Given the description of an element on the screen output the (x, y) to click on. 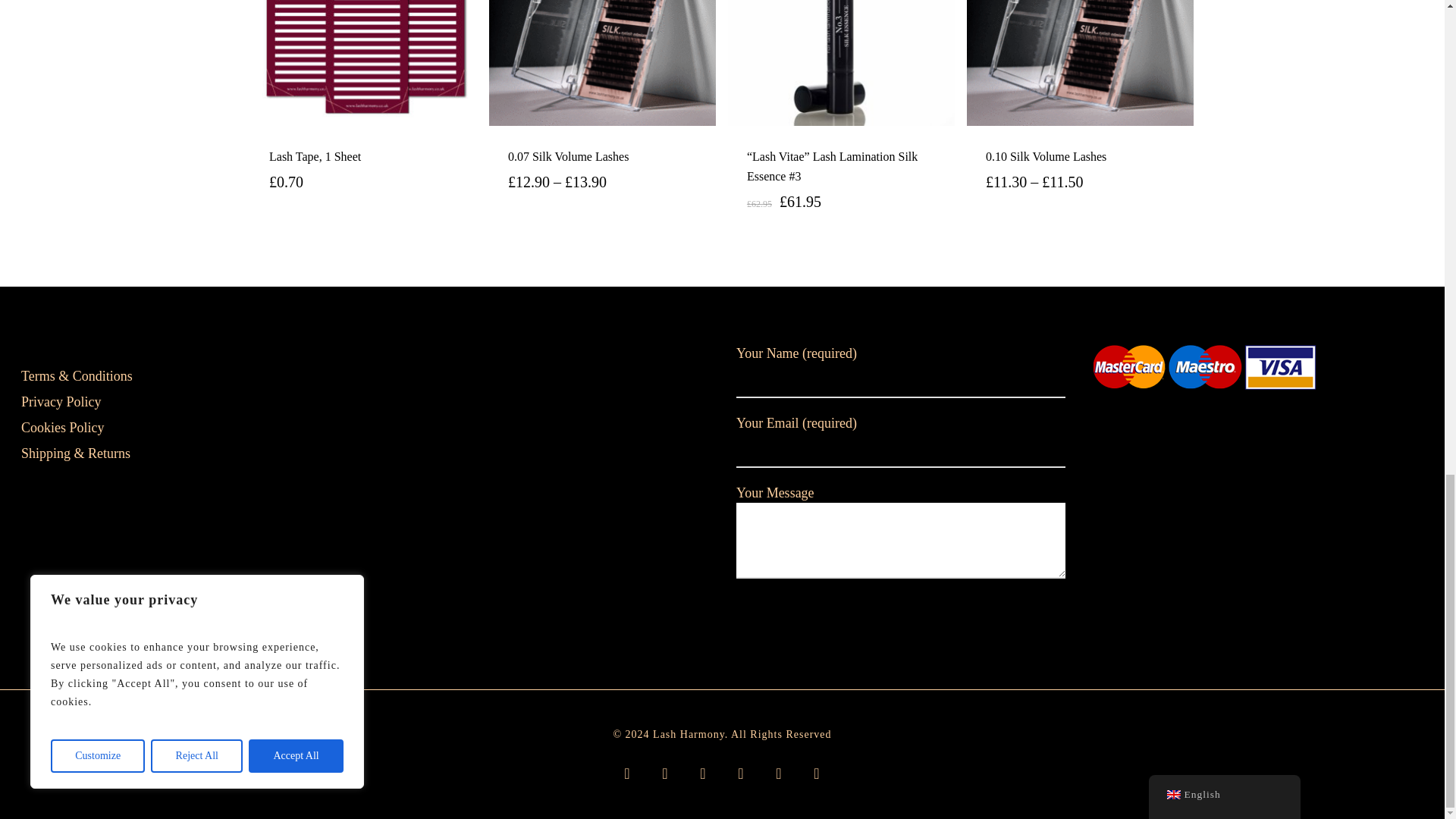
Send (782, 615)
